Given the description of an element on the screen output the (x, y) to click on. 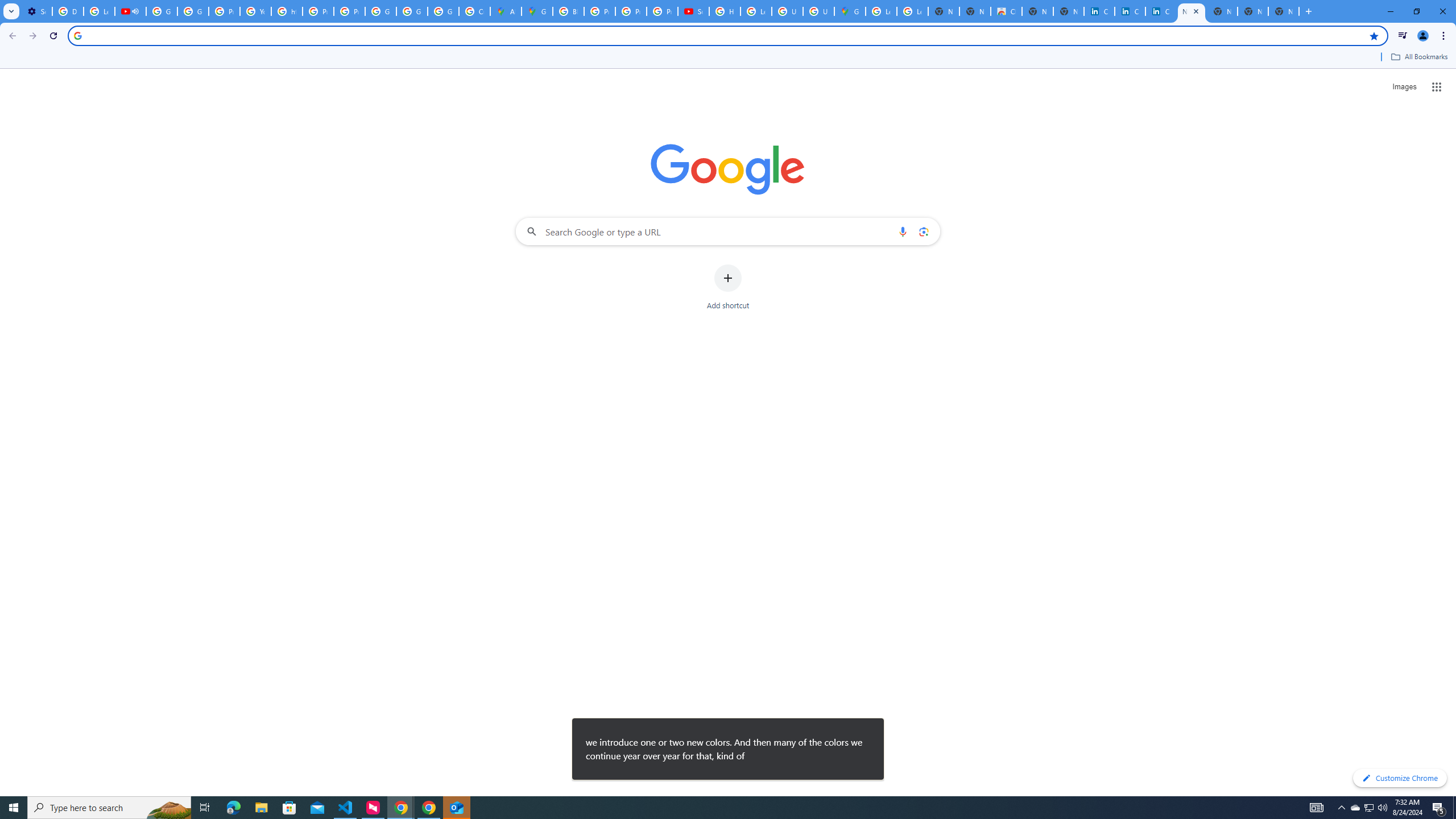
Cookie Policy | LinkedIn (1129, 11)
Search Google or type a URL (727, 230)
Privacy Help Center - Policies Help (599, 11)
Google Maps (536, 11)
Learn how to find your photos - Google Photos Help (98, 11)
